Given the description of an element on the screen output the (x, y) to click on. 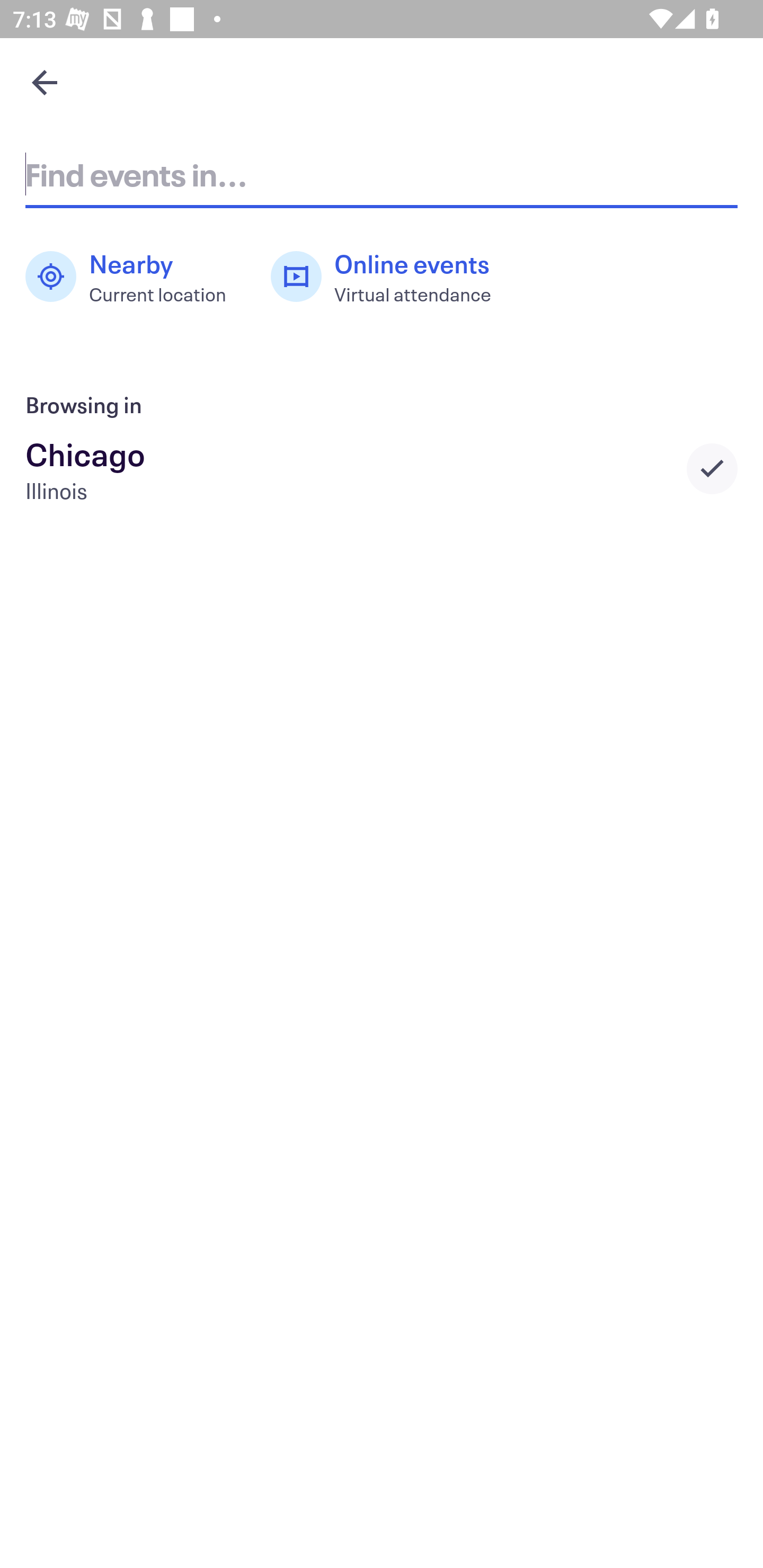
Navigate up (44, 82)
Find events in... (381, 173)
Nearby Current location (135, 276)
Online events Virtual attendance (390, 276)
Chicago Illinois Selected city (381, 468)
